Given the description of an element on the screen output the (x, y) to click on. 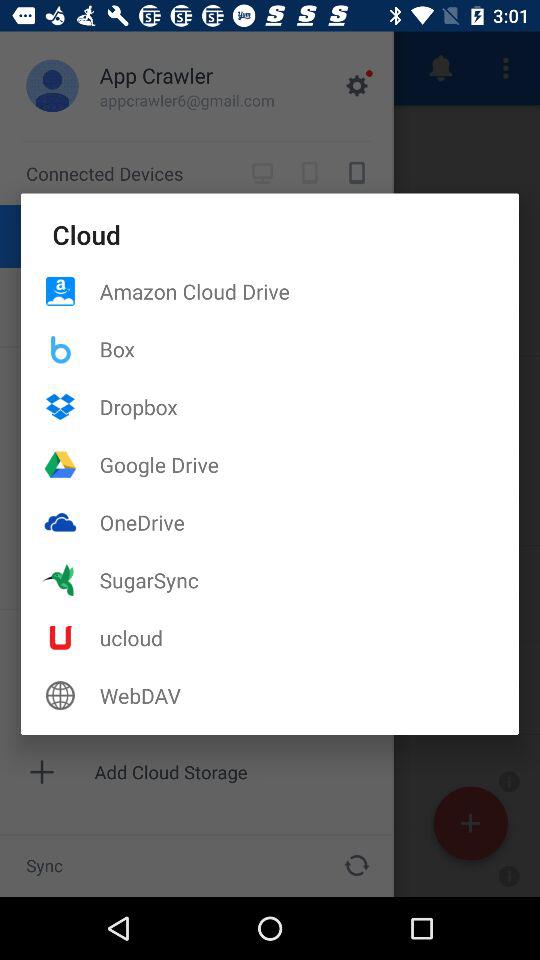
jump to the box (309, 348)
